Given the description of an element on the screen output the (x, y) to click on. 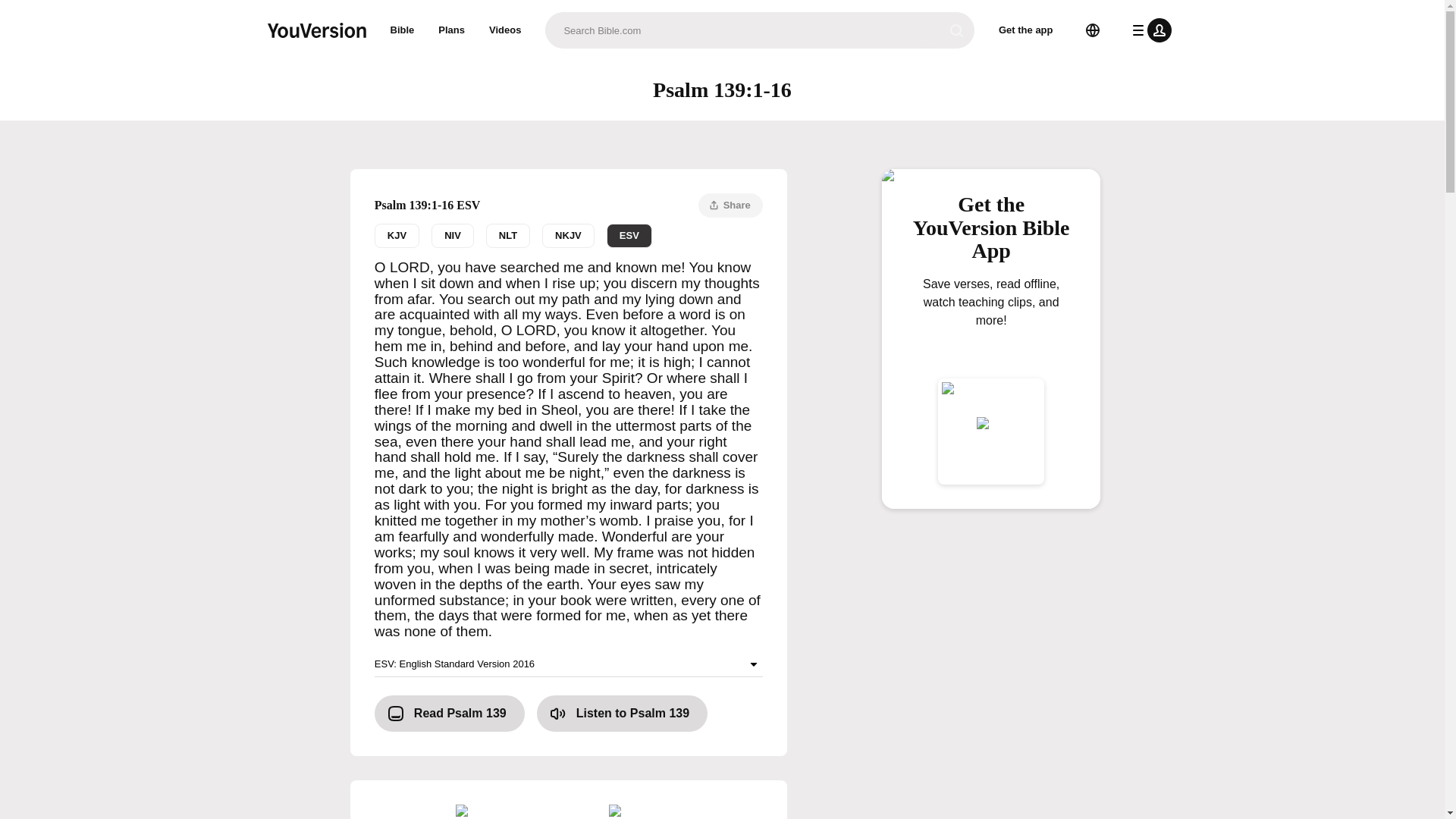
Plans (451, 29)
NIV (452, 235)
Read Psalm 139 (449, 713)
Videos (504, 29)
Bible App (488, 811)
NLT (507, 235)
KJV (396, 235)
ESV (629, 235)
Bible (401, 29)
Listen to Psalm 139 (622, 713)
